Given the description of an element on the screen output the (x, y) to click on. 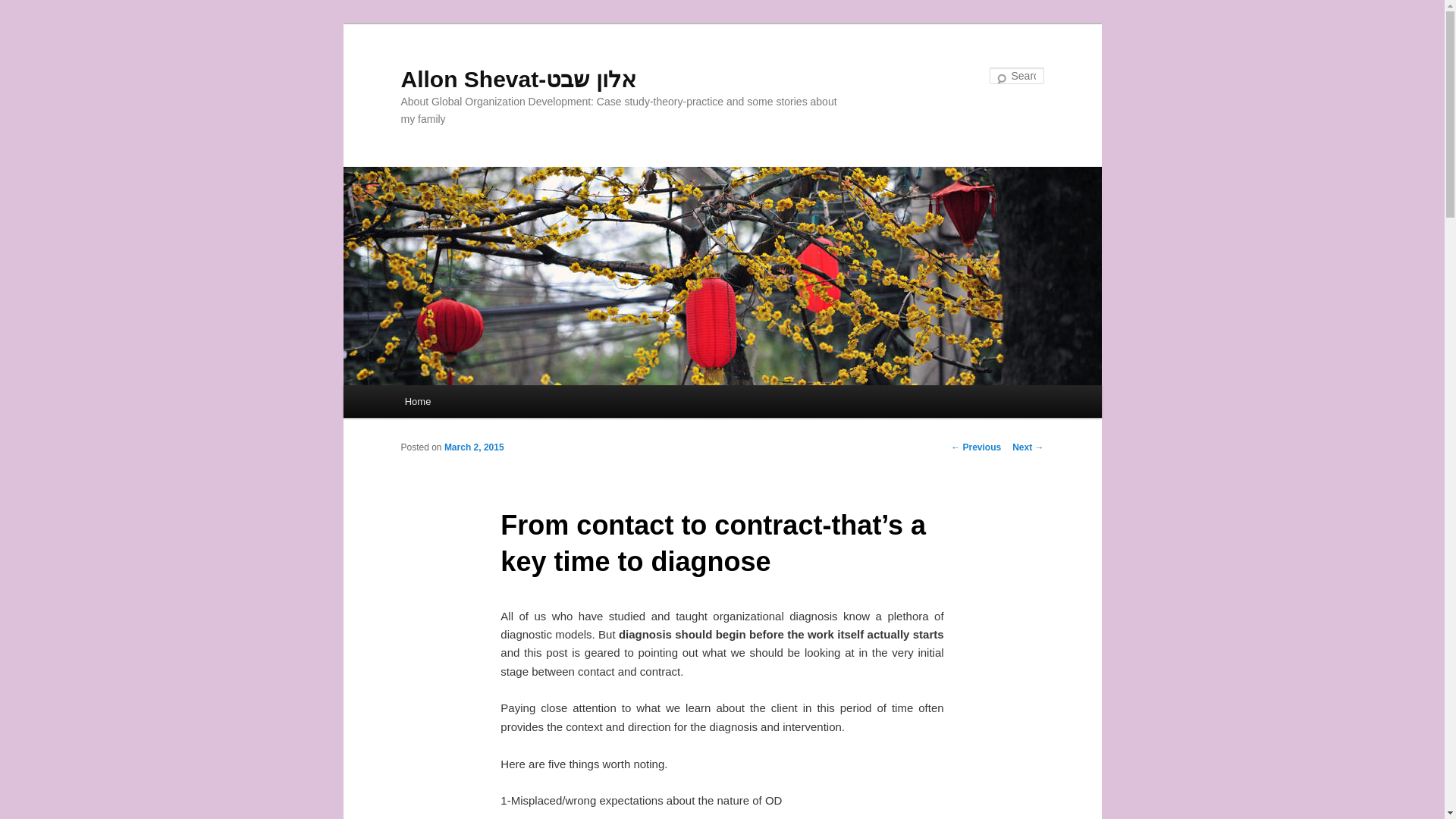
Search (24, 8)
16:37 (473, 447)
March 2, 2015 (473, 447)
Home (417, 400)
